Given the description of an element on the screen output the (x, y) to click on. 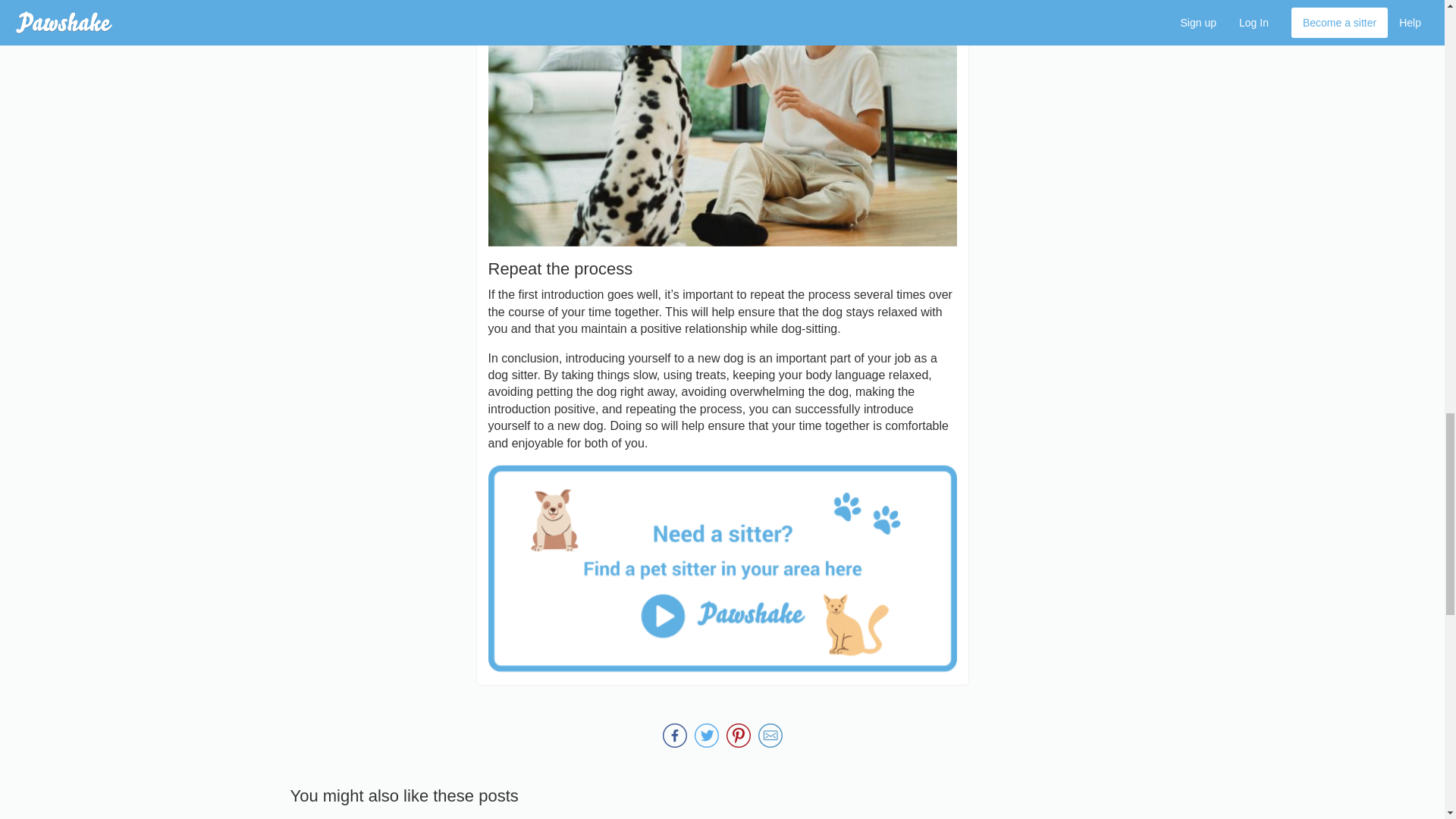
Book a pet sitter (721, 568)
